Given the description of an element on the screen output the (x, y) to click on. 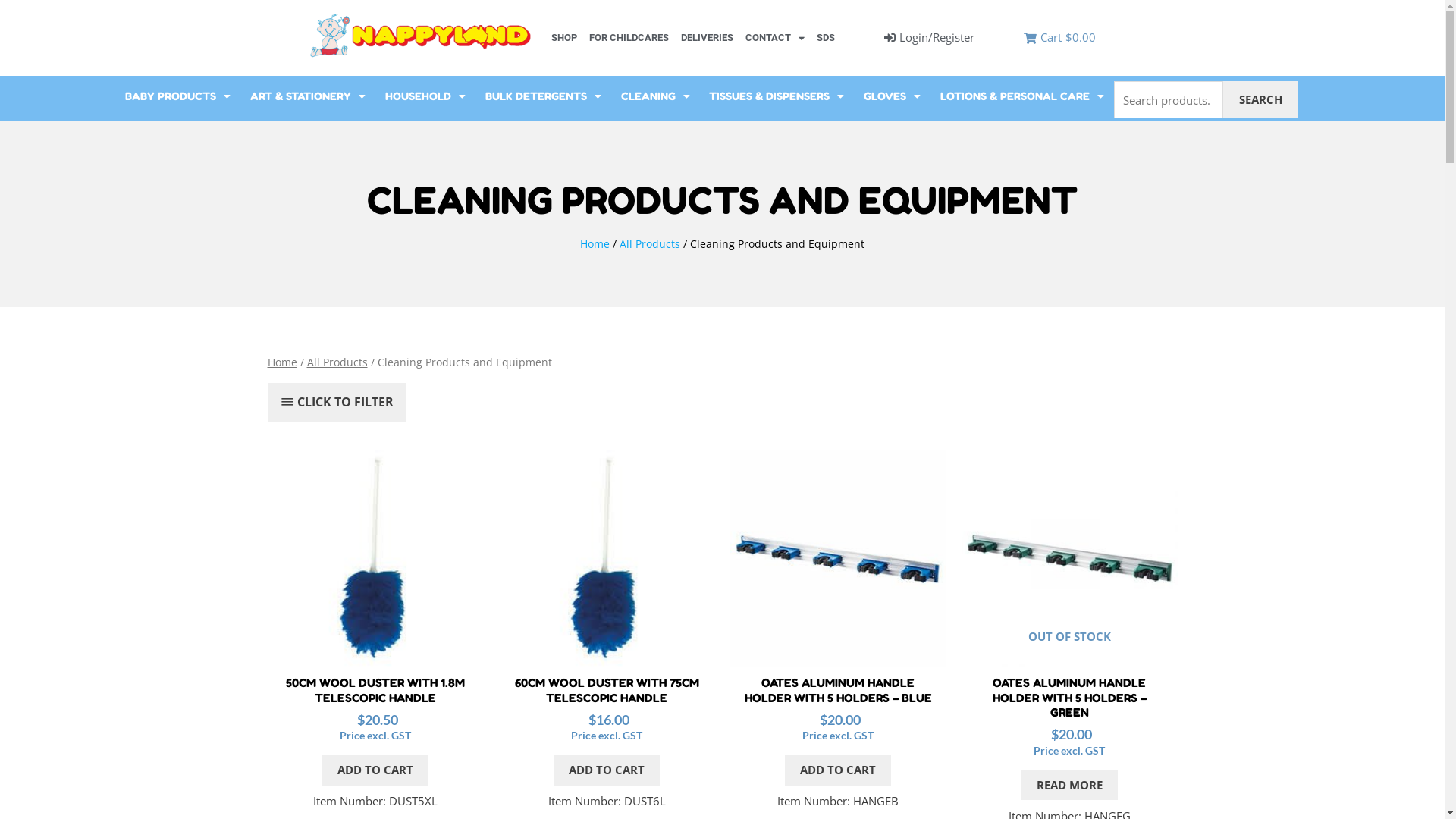
CONTACT Element type: text (774, 37)
SDS Element type: text (825, 37)
BULK DETERGENTS Element type: text (543, 95)
Home Element type: text (281, 361)
SEARCH Element type: text (1260, 100)
Home Element type: text (594, 243)
ADD TO CART Element type: text (606, 770)
CLEANING Element type: text (655, 95)
BABY PRODUCTS Element type: text (177, 95)
SHOP Element type: text (564, 37)
FOR CHILDCARES Element type: text (628, 37)
All Products Element type: text (649, 243)
TISSUES & DISPENSERS Element type: text (776, 95)
HOUSEHOLD Element type: text (425, 95)
All Products Element type: text (336, 361)
GLOVES Element type: text (891, 95)
LOTIONS & PERSONAL CARE Element type: text (1021, 95)
ART & STATIONERY Element type: text (307, 95)
60CM WOOL DUSTER WITH 75CM TELESCOPIC HANDLE Element type: text (606, 690)
Cart
$0.00 Element type: text (1059, 37)
READ MORE Element type: text (1068, 785)
OUT OF STOCK Element type: text (1069, 558)
ADD TO CART Element type: text (375, 770)
CLICK TO FILTER Element type: text (335, 402)
DELIVERIES Element type: text (706, 37)
ADD TO CART Element type: text (837, 770)
Login/Register Element type: text (929, 37)
50CM WOOL DUSTER WITH 1.8M TELESCOPIC HANDLE Element type: text (374, 690)
